Given the description of an element on the screen output the (x, y) to click on. 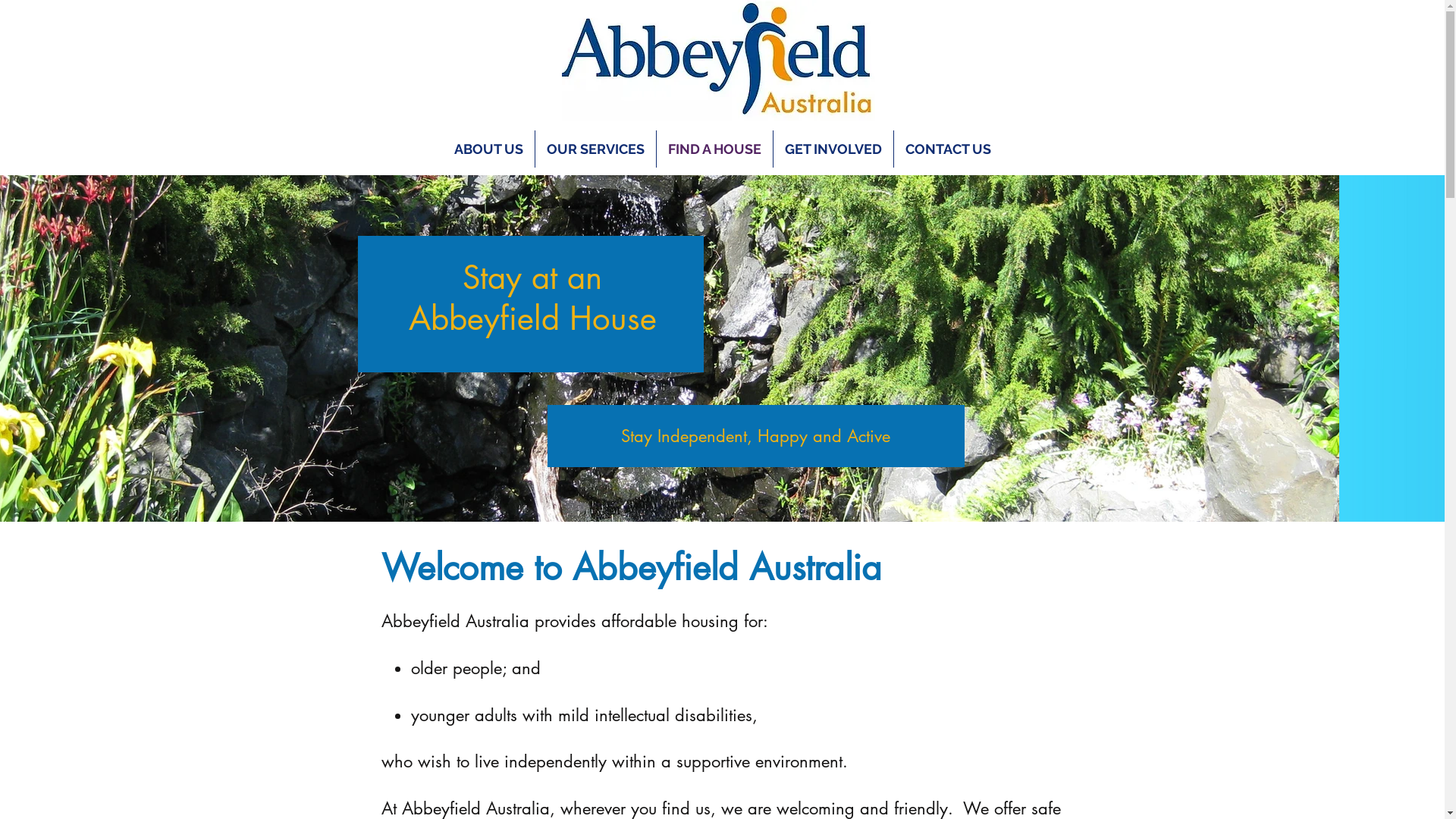
OUR SERVICES Element type: text (595, 148)
FIND A HOUSE Element type: text (714, 148)
ABOUT US Element type: text (488, 148)
CONTACT US Element type: text (947, 148)
GET INVOLVED Element type: text (833, 148)
